Given the description of an element on the screen output the (x, y) to click on. 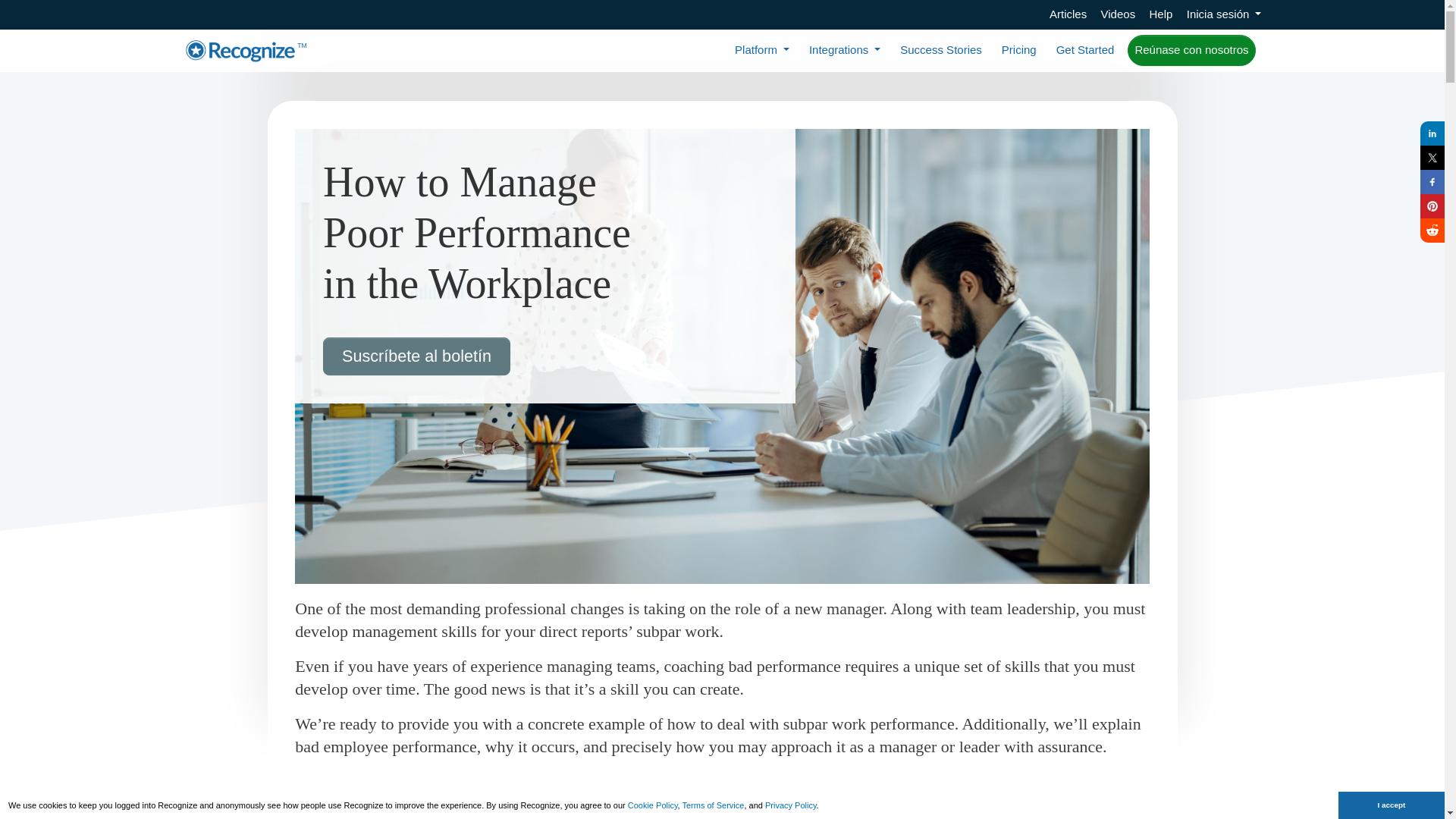
Integrations (844, 49)
Platform (761, 49)
TM (246, 50)
Help (1161, 13)
Terms of Service (713, 804)
Articles (1067, 13)
Privacy Policy (790, 804)
Videos (1117, 13)
Cookie Policy (652, 804)
